Given the description of an element on the screen output the (x, y) to click on. 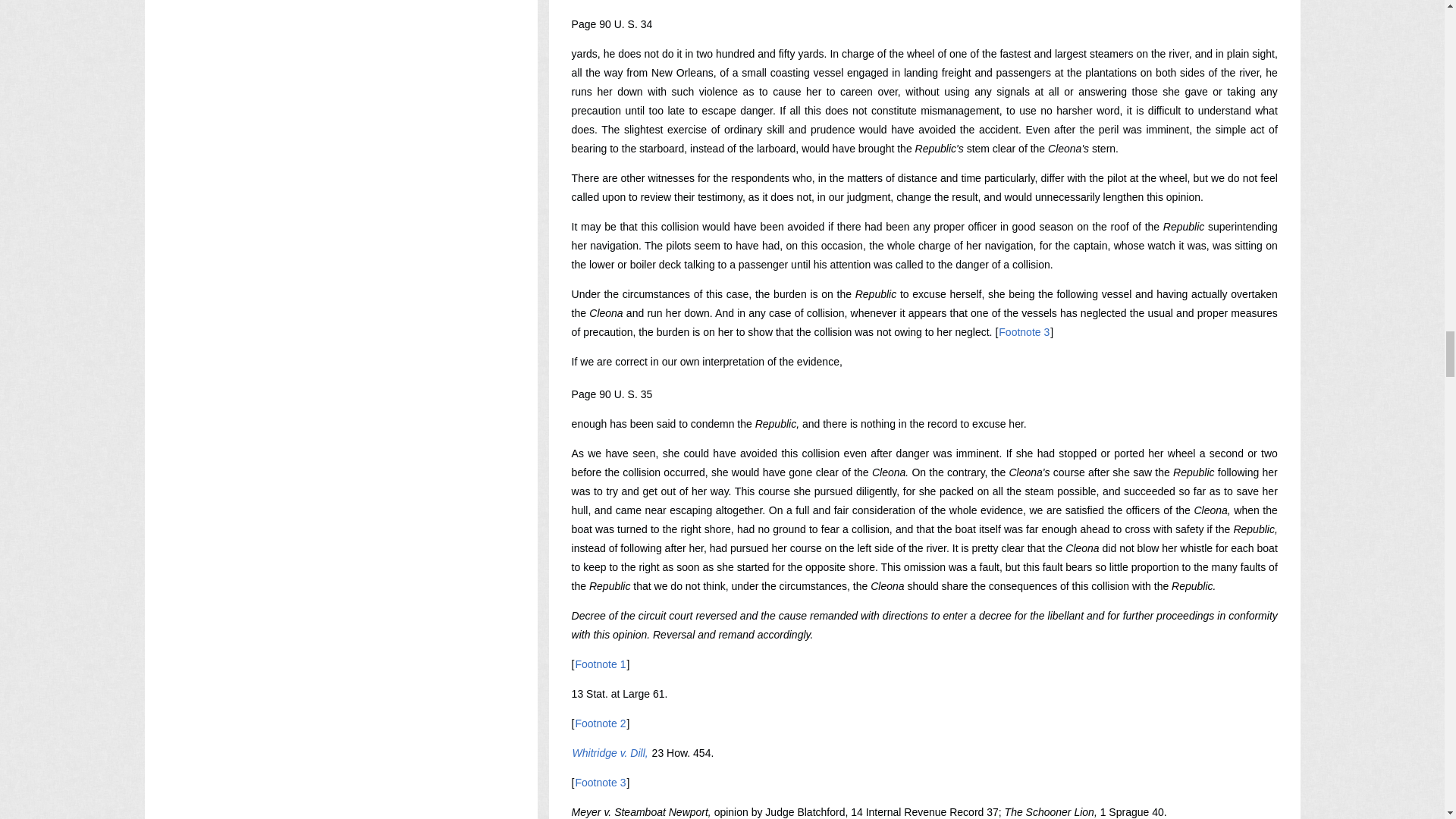
Footnote 1 (601, 664)
Whitridge v. Dill, (610, 752)
Footnote 3 (1023, 331)
Footnote 3 (601, 782)
Footnote 2 (601, 723)
Page 90 U. S. 35 (612, 394)
Page 90 U. S. 34 (612, 24)
